Given the description of an element on the screen output the (x, y) to click on. 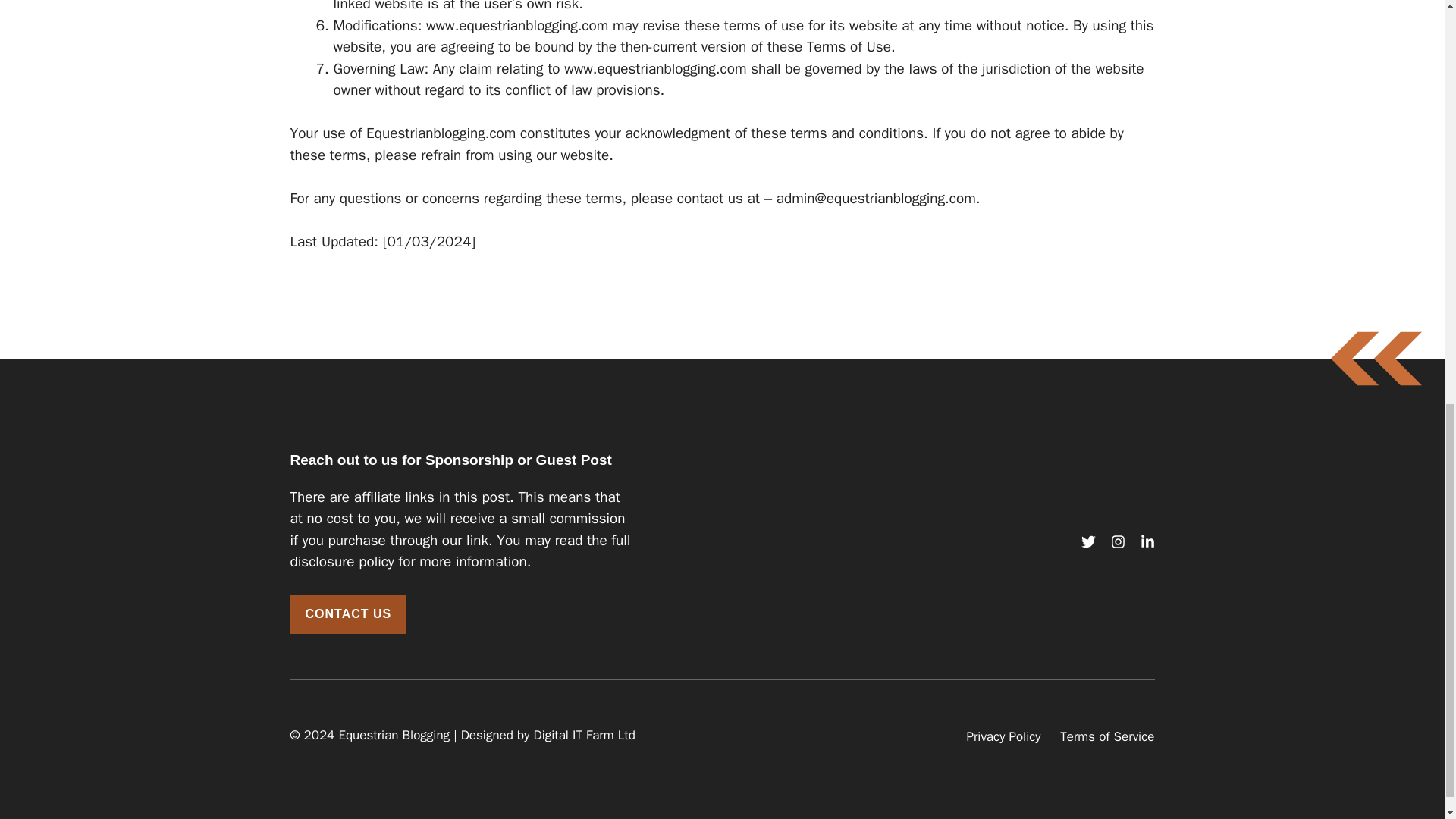
Digital IT Farm Ltd (583, 734)
CONTACT US (347, 613)
Privacy Policy (1003, 736)
www.equestrianblogging.com (654, 68)
Terms of Service (1106, 736)
Equestrianblogging.com (440, 133)
www.equestrianblogging.com (517, 25)
